Given the description of an element on the screen output the (x, y) to click on. 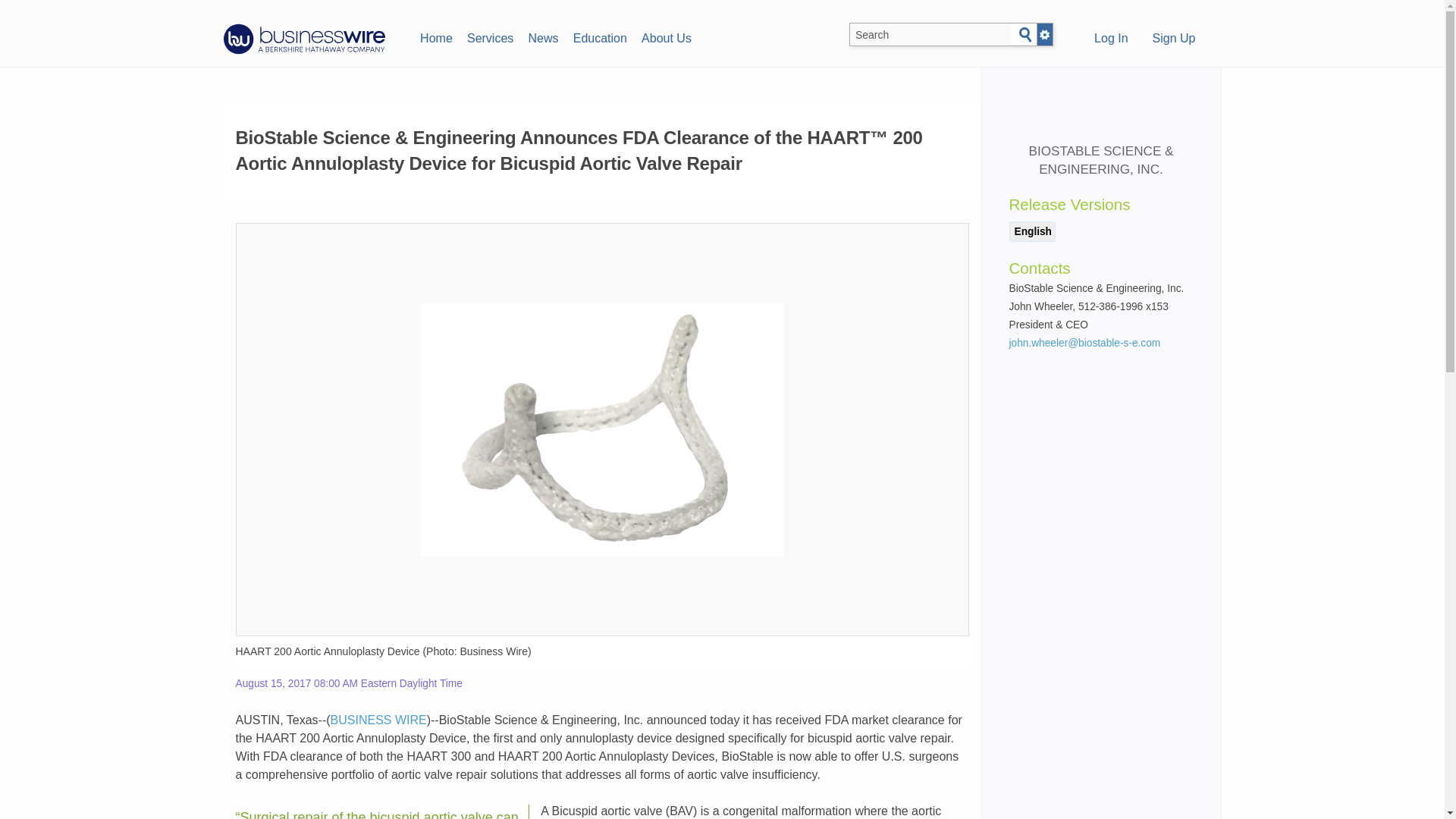
Home (436, 36)
Education (599, 36)
Services (490, 36)
BUSINESS WIRE (378, 719)
Search (1025, 34)
Log In (1110, 39)
Search BusinessWire.com (930, 34)
Sign Up (1174, 39)
News (543, 36)
About Us (665, 36)
